Given the description of an element on the screen output the (x, y) to click on. 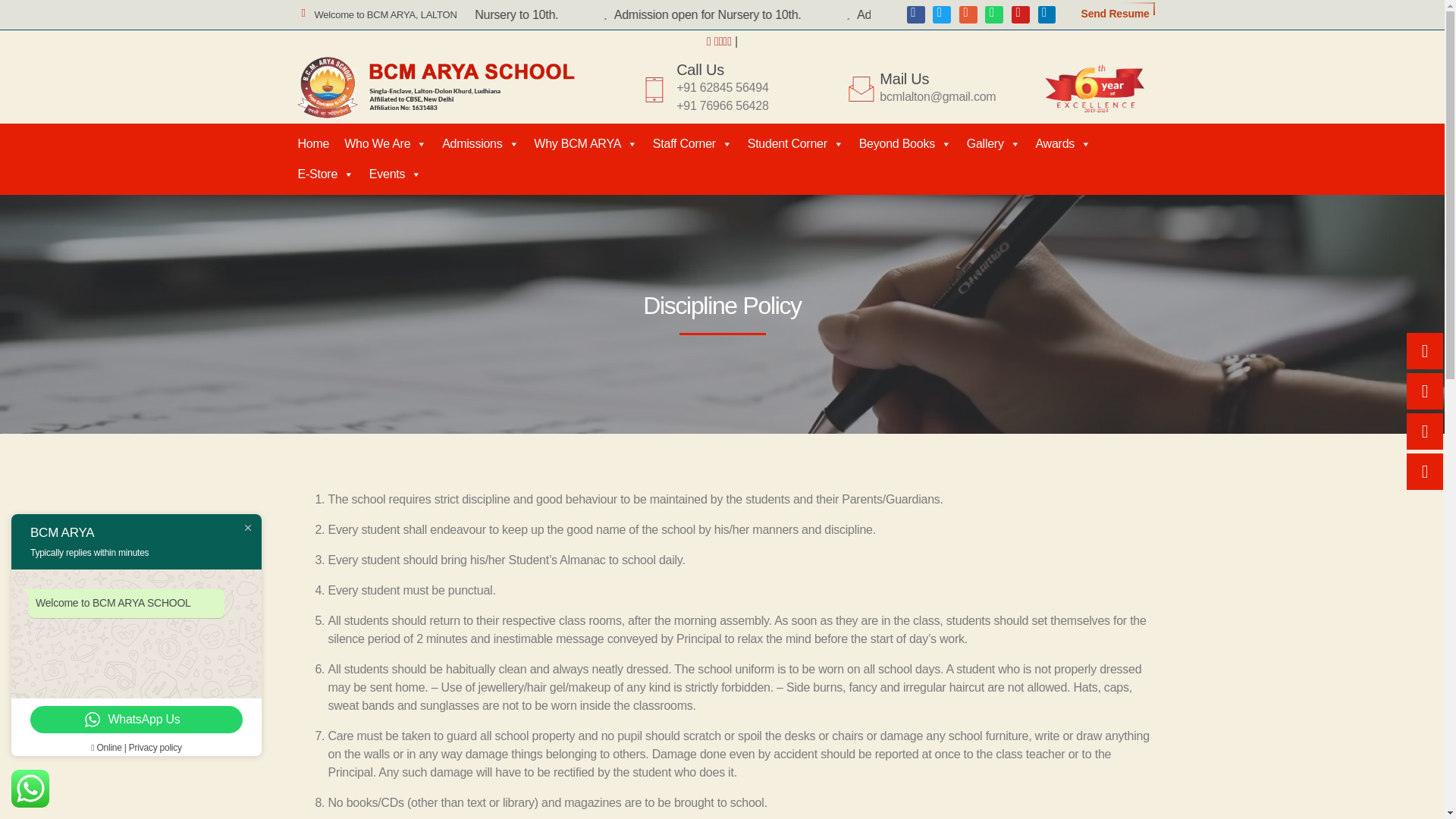
Admission open for Nursery to 10th. (837, 14)
Admission open for Nursery to 10th. (594, 14)
Send Resume (1114, 12)
